Given the description of an element on the screen output the (x, y) to click on. 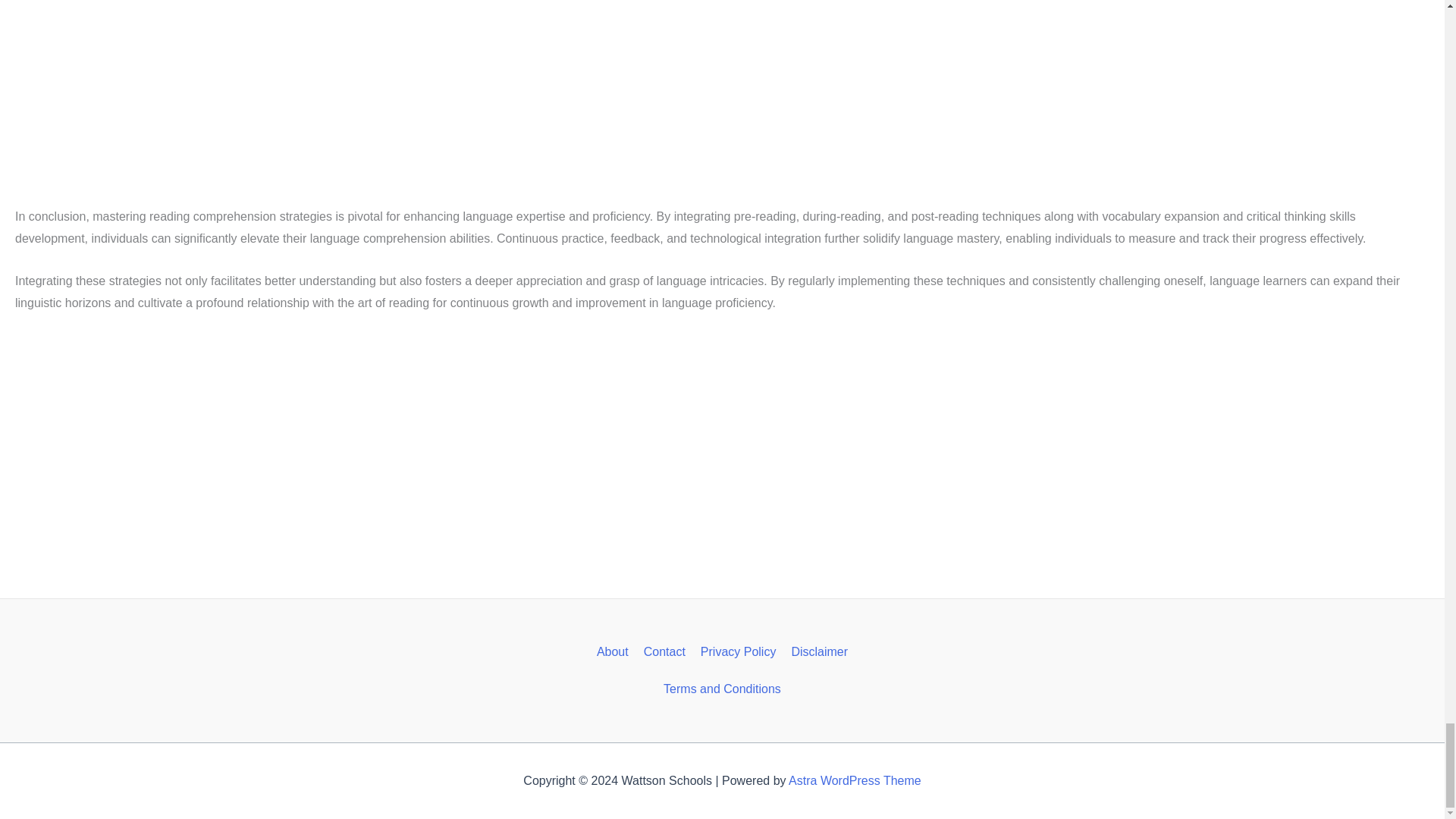
Astra WordPress Theme (855, 780)
About (612, 651)
Privacy Policy (738, 651)
Contact (664, 651)
Terms and Conditions (722, 689)
Disclaimer (819, 651)
